Given the description of an element on the screen output the (x, y) to click on. 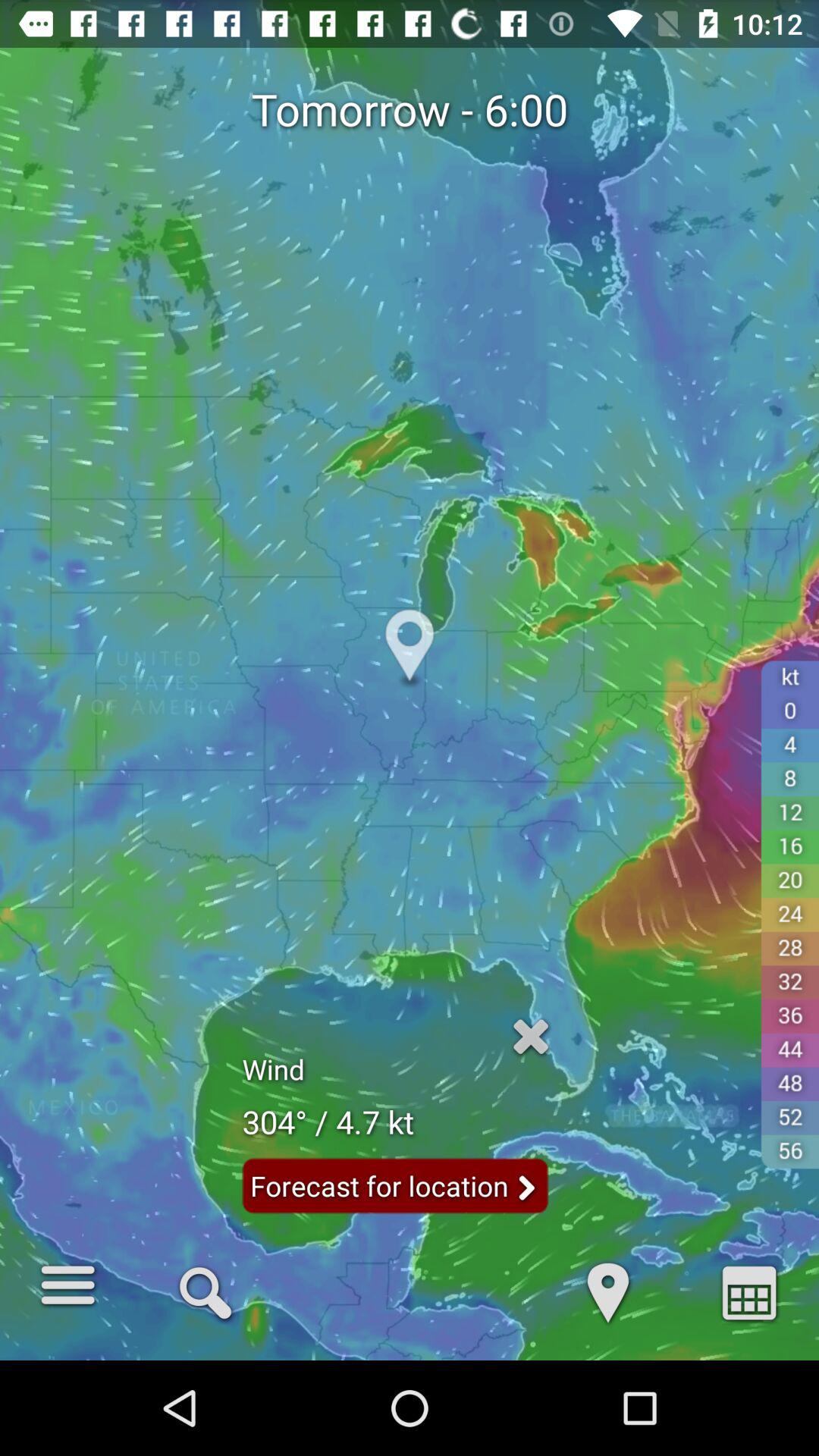
select the icon next to the d (749, 1291)
